Given the description of an element on the screen output the (x, y) to click on. 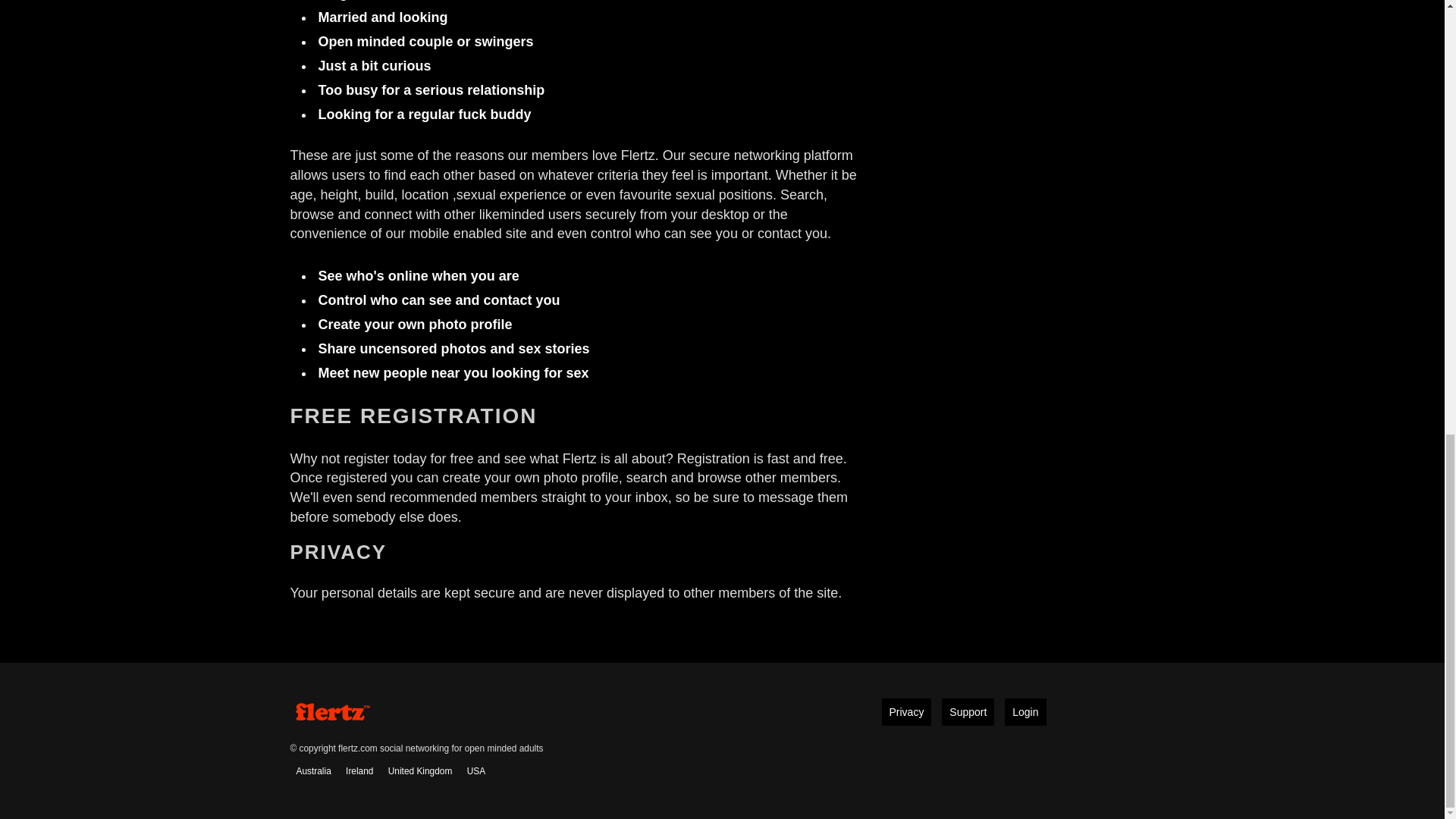
USA (476, 771)
Privacy (905, 711)
Login (1024, 711)
United Kingdom (419, 771)
Australia (312, 771)
Ireland (358, 771)
Support (968, 711)
